Given the description of an element on the screen output the (x, y) to click on. 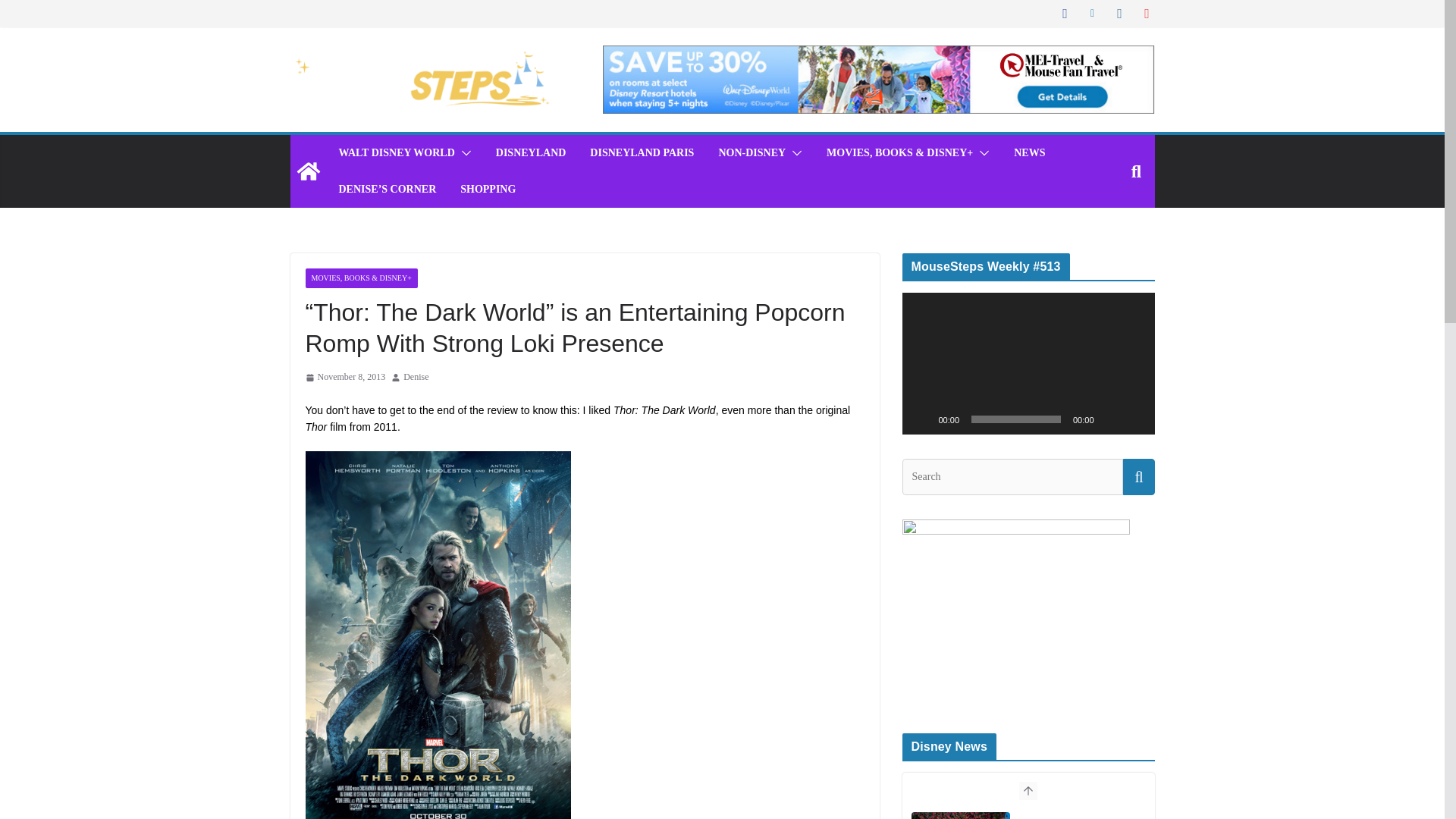
Mute (1110, 418)
Play (922, 418)
Mousesteps (307, 171)
WALT DISNEY WORLD (395, 152)
Denise (415, 377)
Fullscreen (1133, 418)
10:24 pm (344, 377)
